Given the description of an element on the screen output the (x, y) to click on. 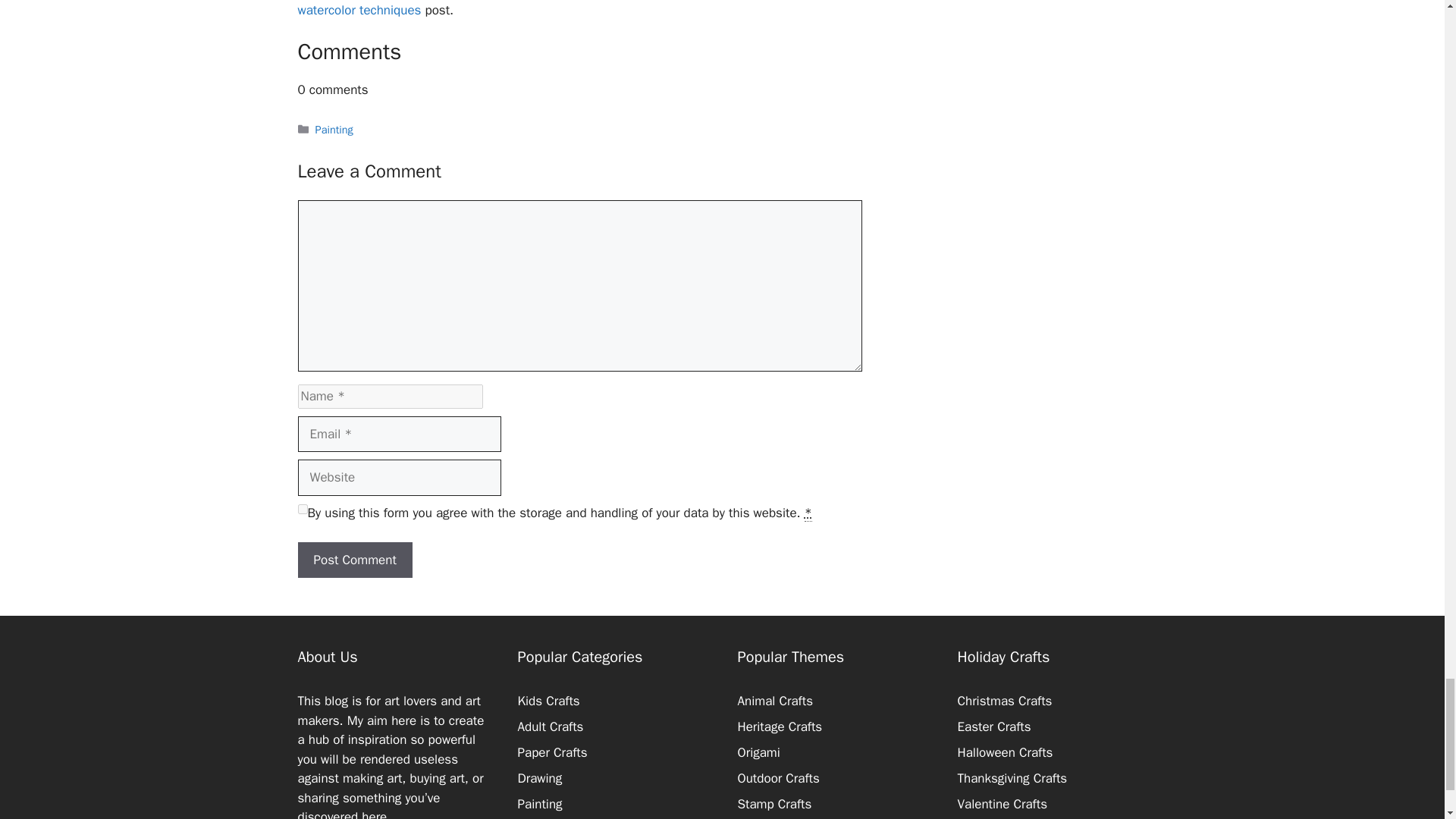
Post Comment (354, 560)
You need to accept this checkbox (808, 513)
1 (302, 509)
